Given the description of an element on the screen output the (x, y) to click on. 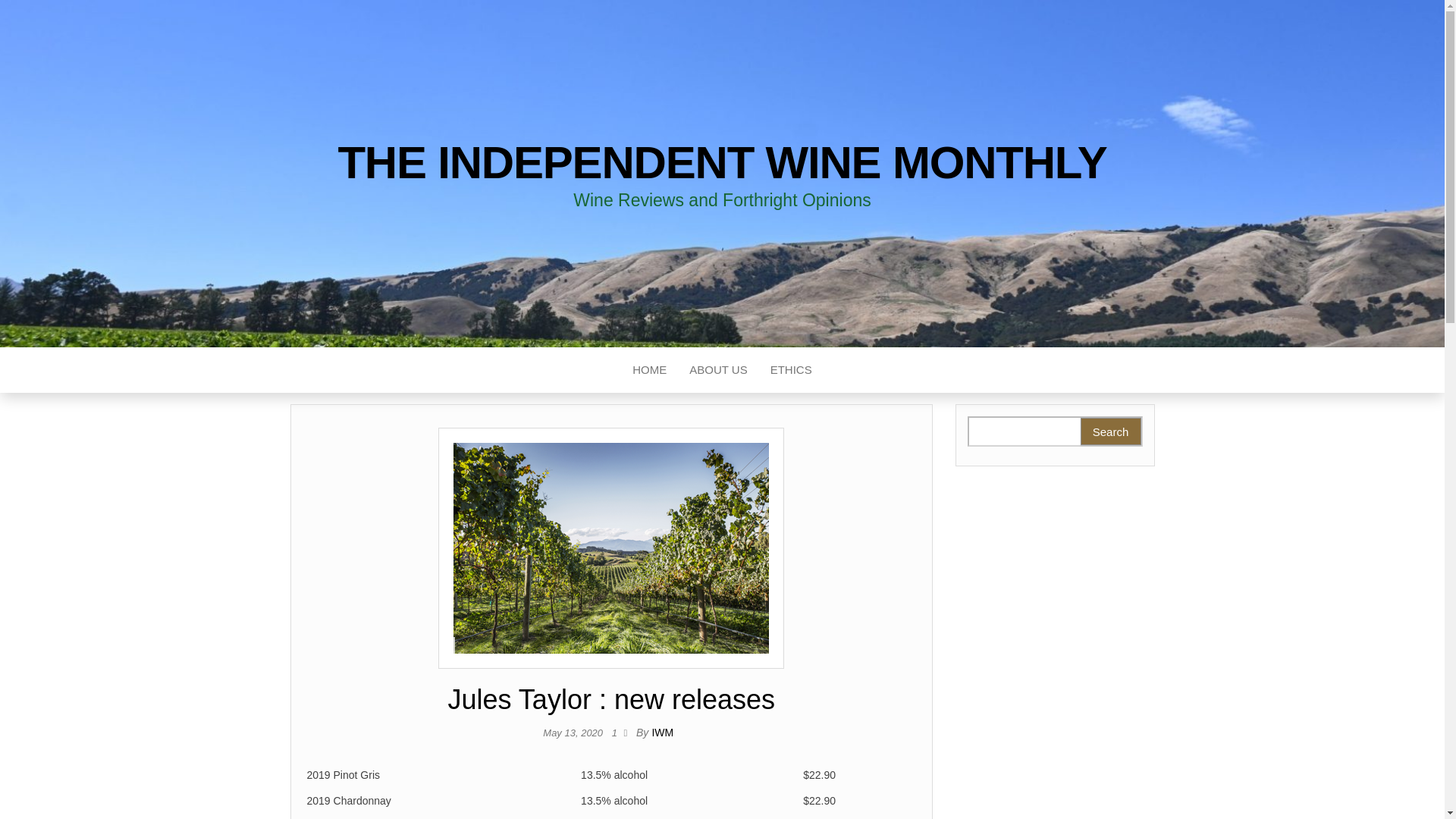
About Us (718, 370)
THE INDEPENDENT WINE MONTHLY (721, 162)
1 (617, 732)
Search (1110, 431)
Comment on Jules Taylor : new releases (617, 732)
Home (649, 370)
Ethics (791, 370)
IWM (661, 732)
Search (1110, 431)
ABOUT US (718, 370)
